Given the description of an element on the screen output the (x, y) to click on. 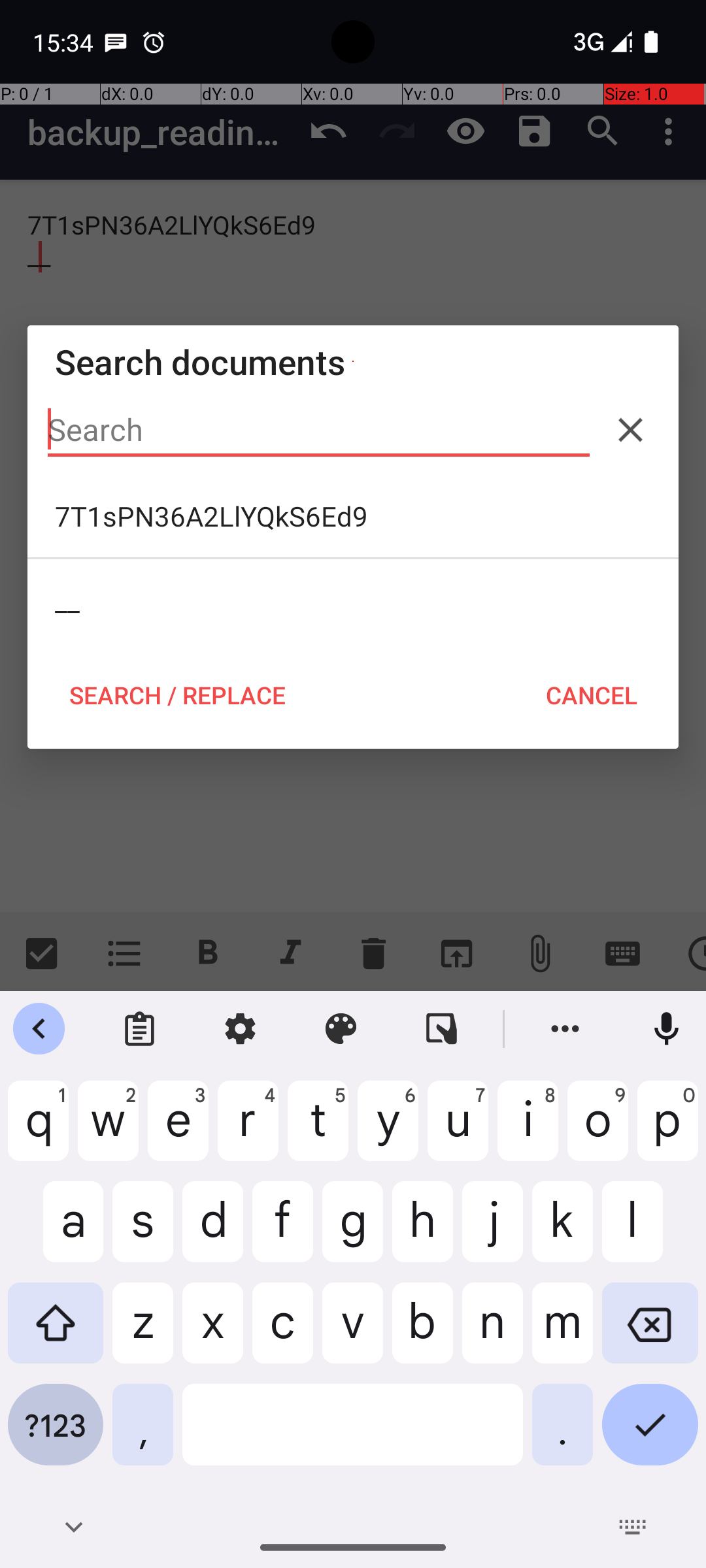
7T1sPN36A2LlYQkS6Ed9 Element type: android.widget.TextView (352, 515)
__ Element type: android.widget.TextView (352, 600)
